Given the description of an element on the screen output the (x, y) to click on. 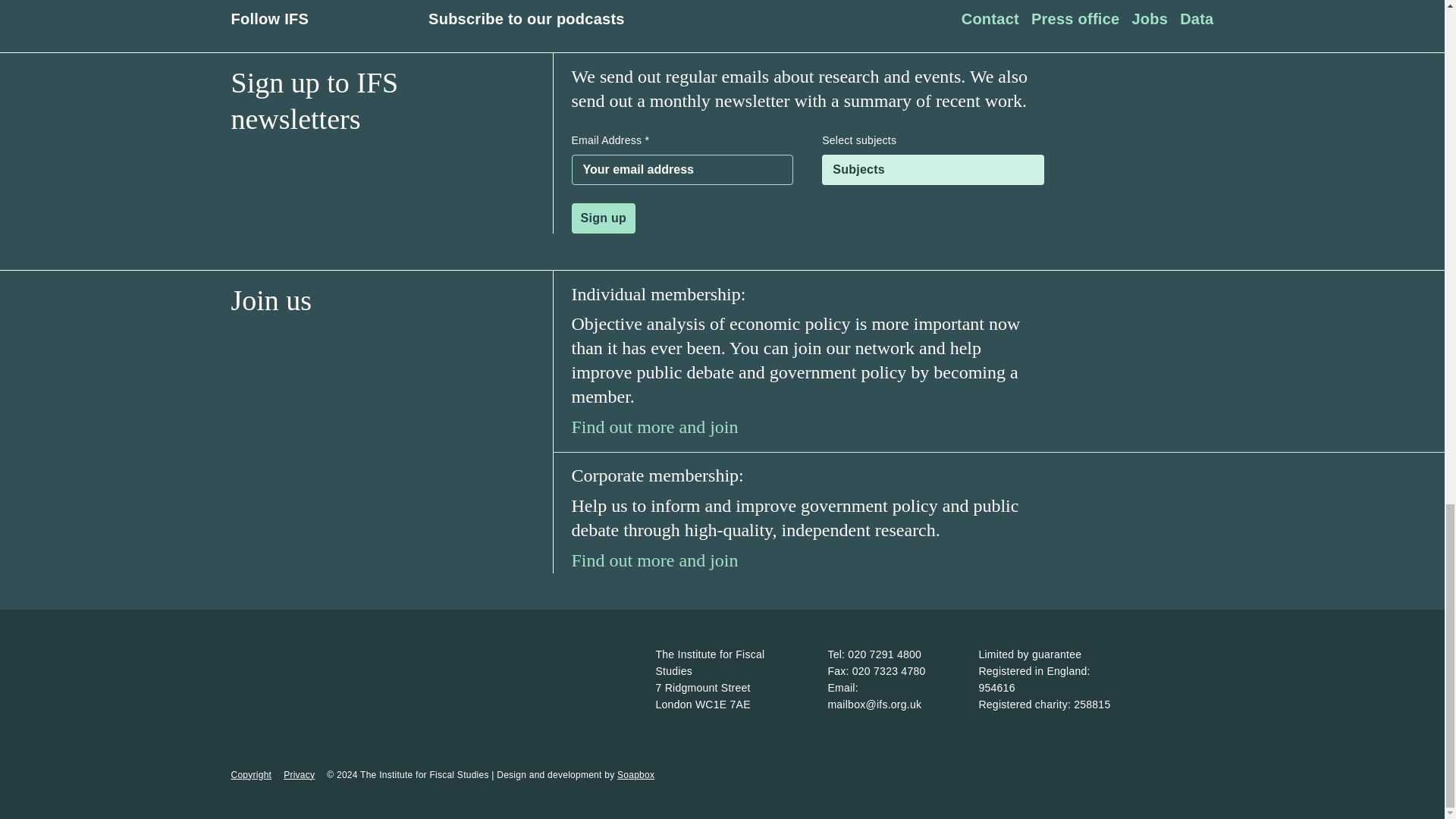
Visit the YouTube profile of IFS (391, 18)
Visit the Facebook page of IFS (329, 18)
Visit the Twitter profile of IFS (359, 18)
